Given the description of an element on the screen output the (x, y) to click on. 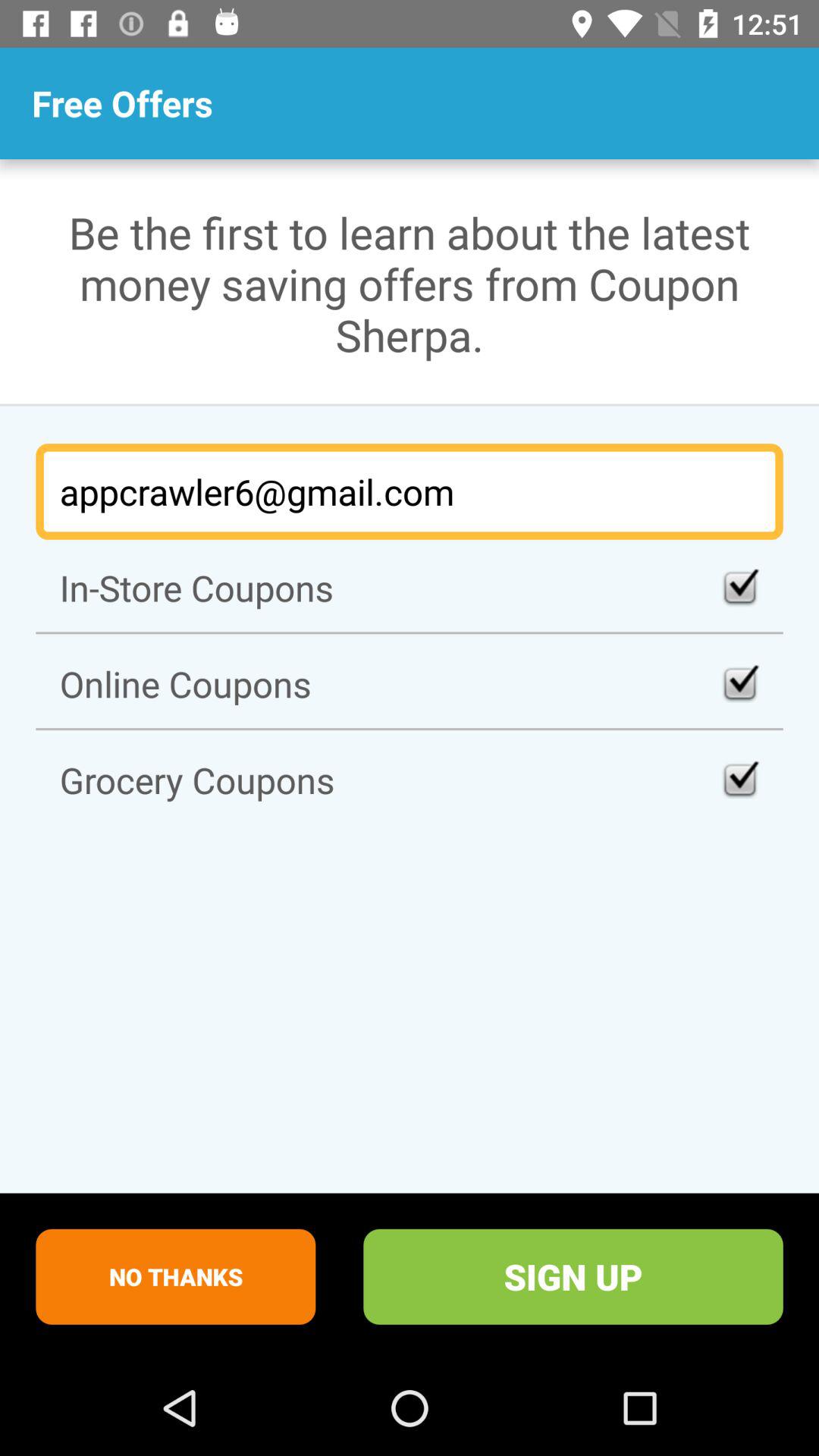
click icon below grocery coupons icon (175, 1276)
